Given the description of an element on the screen output the (x, y) to click on. 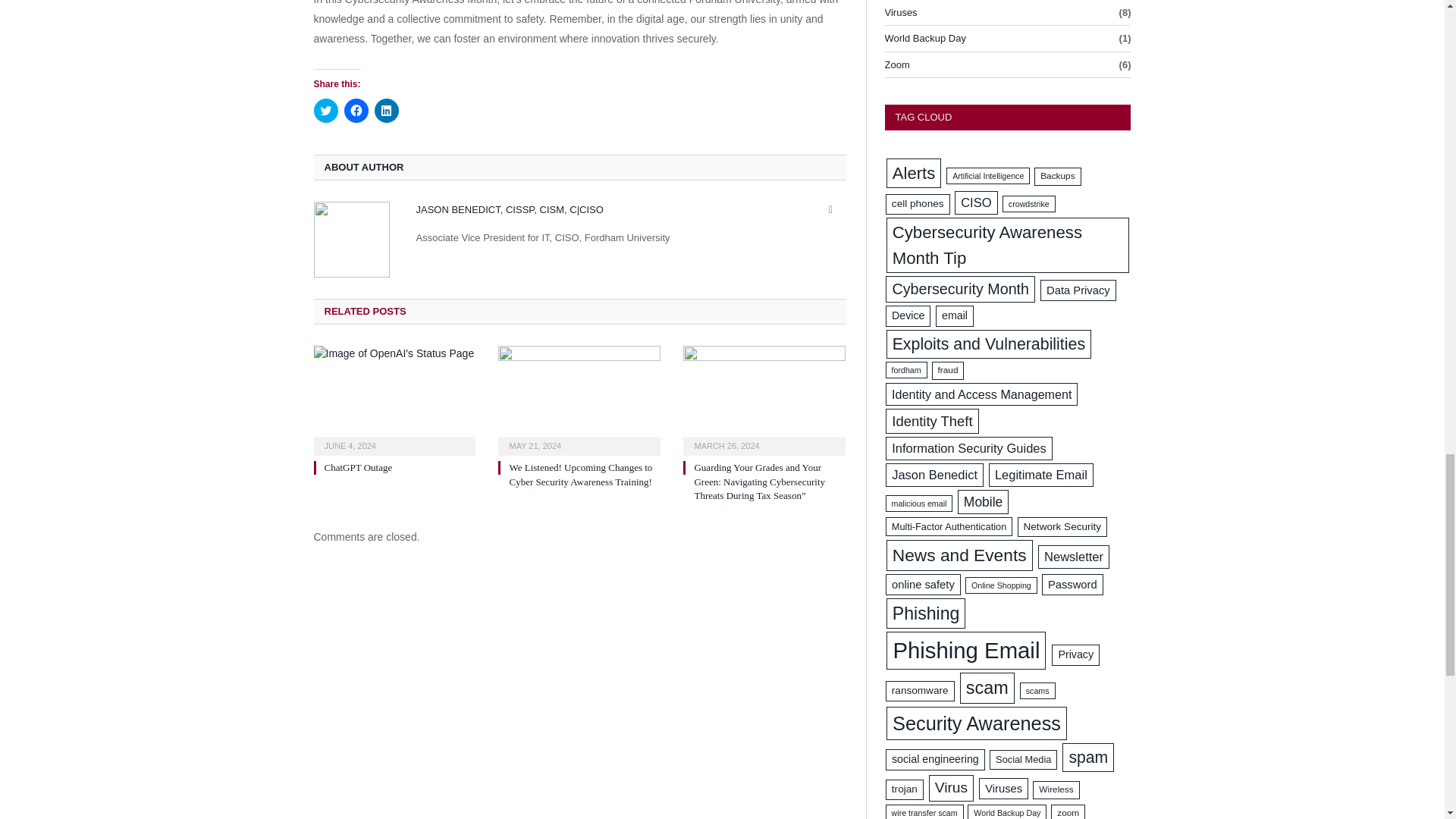
Twitter (831, 209)
